Given the description of an element on the screen output the (x, y) to click on. 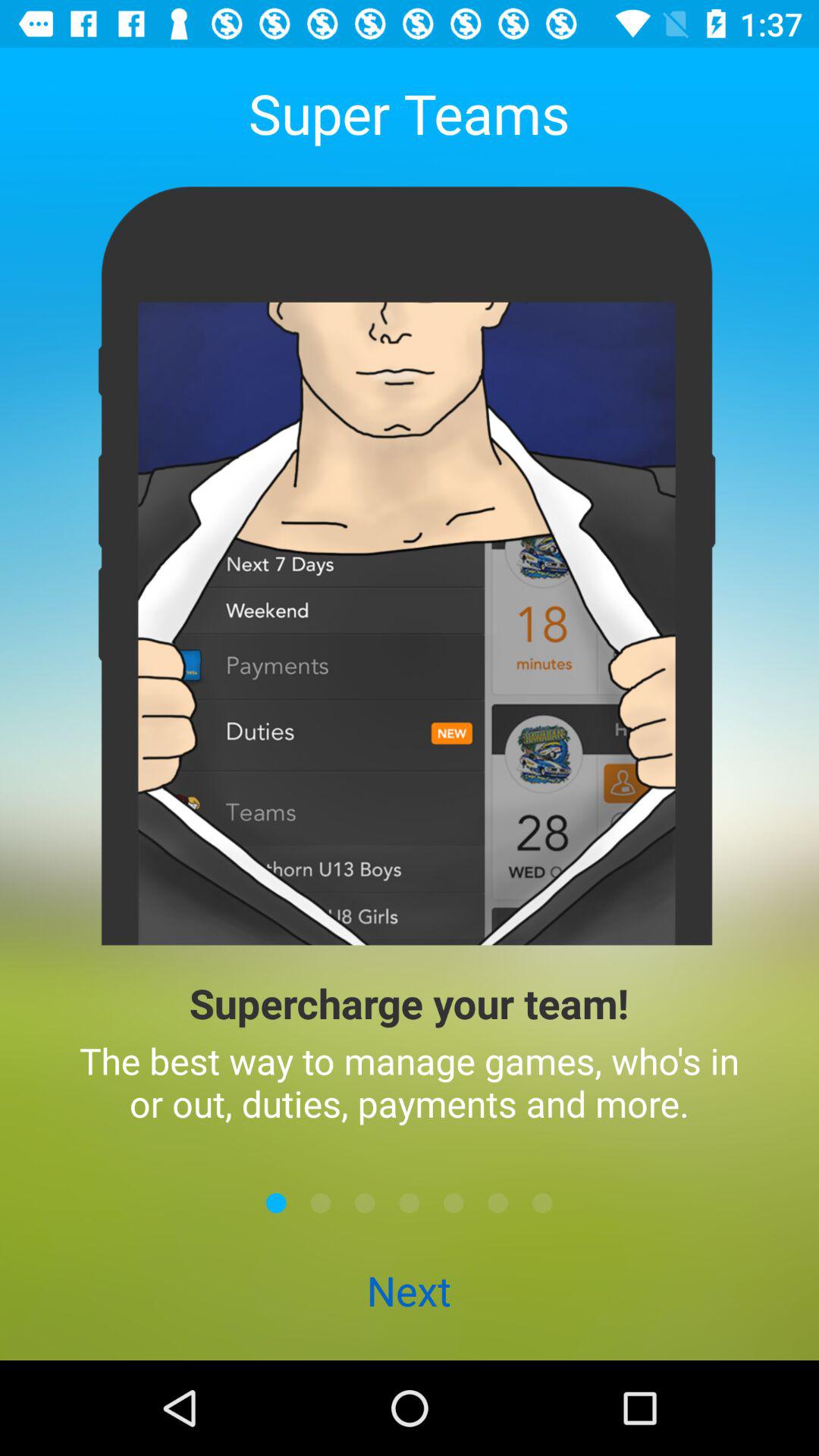
launch icon below the best way icon (409, 1203)
